Given the description of an element on the screen output the (x, y) to click on. 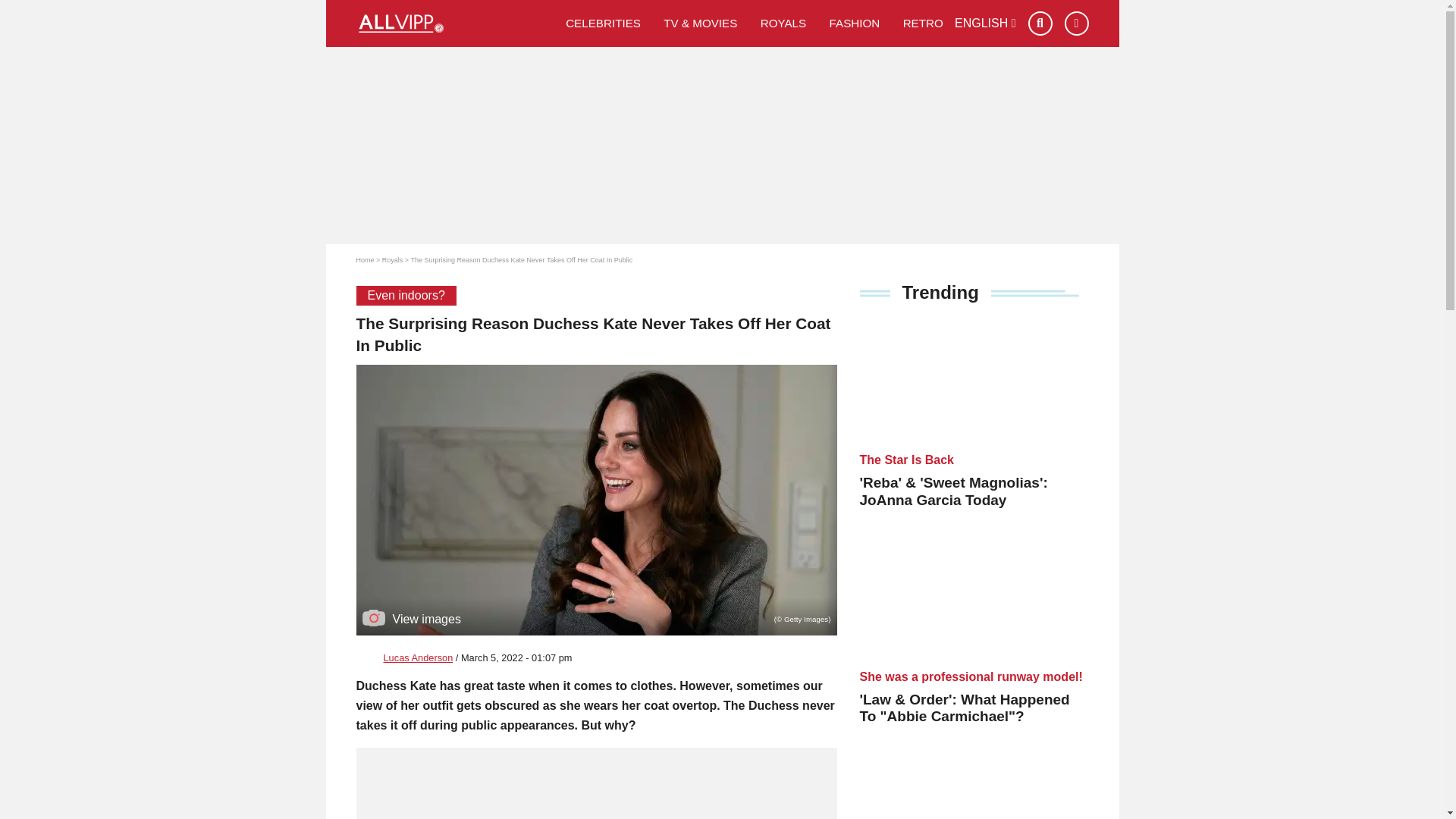
CELEBRITIES (603, 23)
Fashion (853, 23)
Royals (392, 259)
Celebrities (603, 23)
Search (1039, 23)
FASHION (853, 23)
Lucas Anderson (418, 657)
Royals (783, 23)
Home (365, 259)
Retro (923, 23)
